Given the description of an element on the screen output the (x, y) to click on. 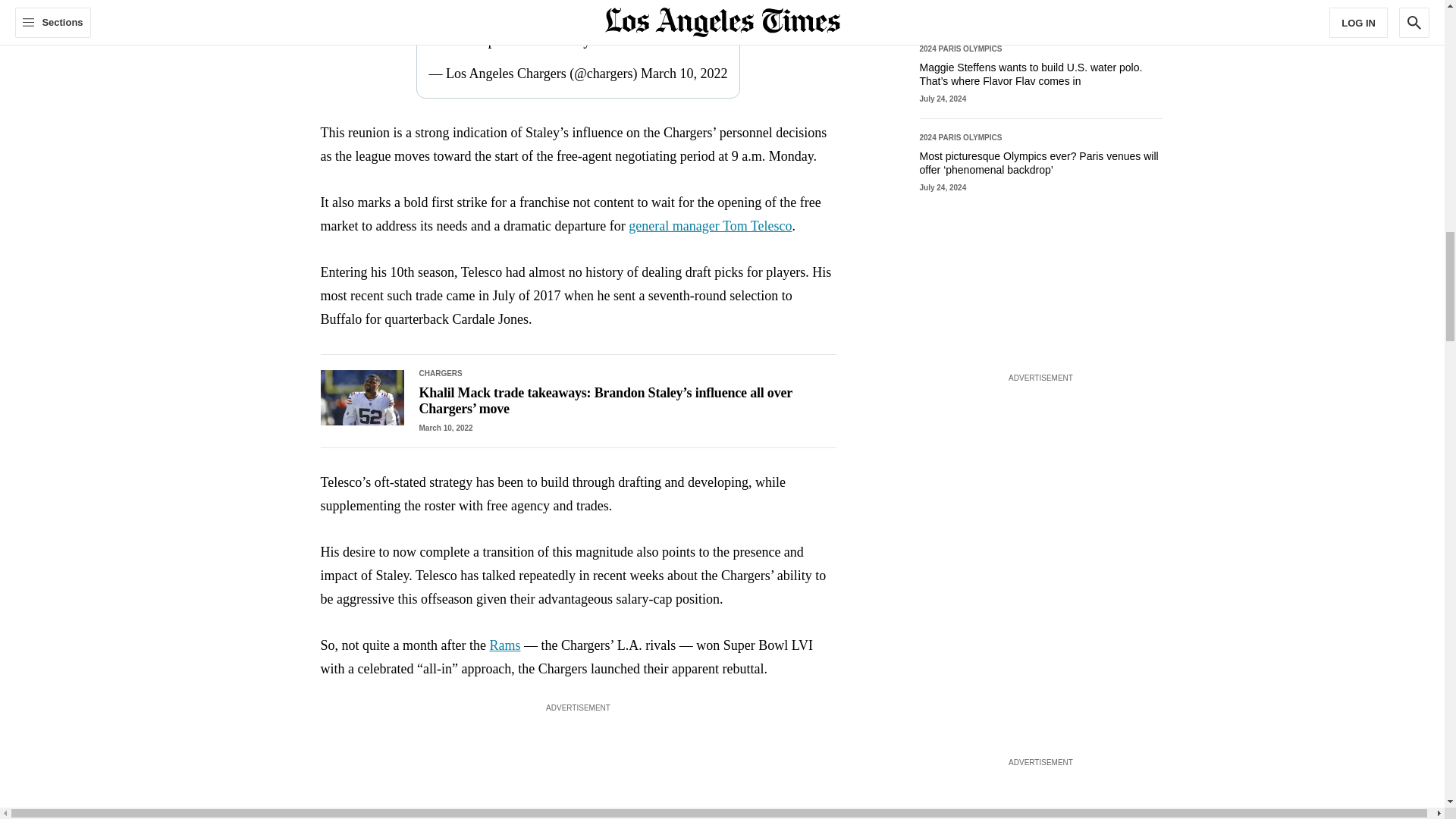
3rd party ad content (1040, 481)
